Given the description of an element on the screen output the (x, y) to click on. 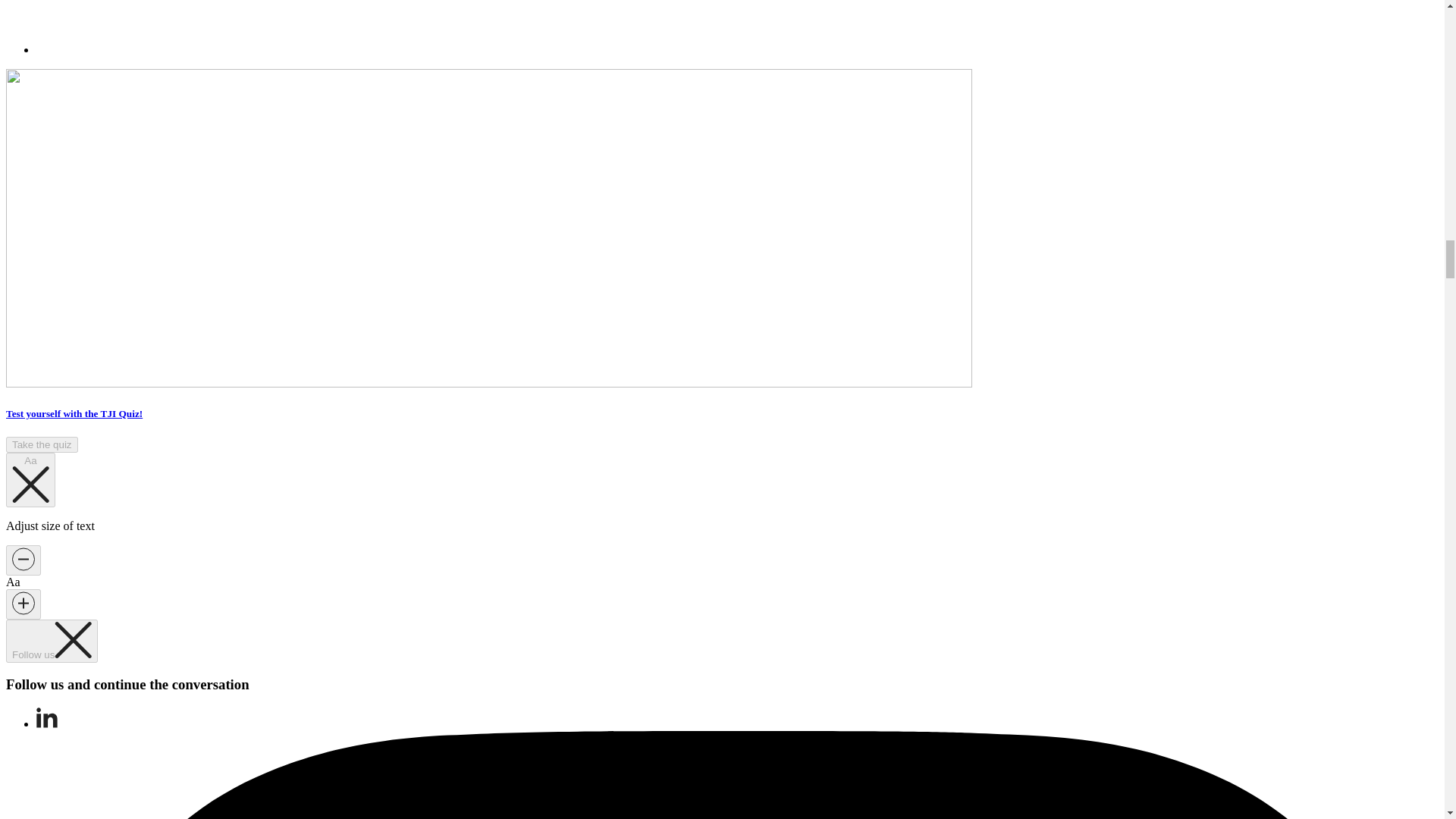
LinkedIn (47, 717)
Take the quiz (41, 444)
Follow us (51, 640)
socials (51, 640)
Increase text size (22, 603)
textSizeControl (30, 479)
Decrease text size (22, 560)
LinkedIn (47, 723)
Aa (30, 479)
